Given the description of an element on the screen output the (x, y) to click on. 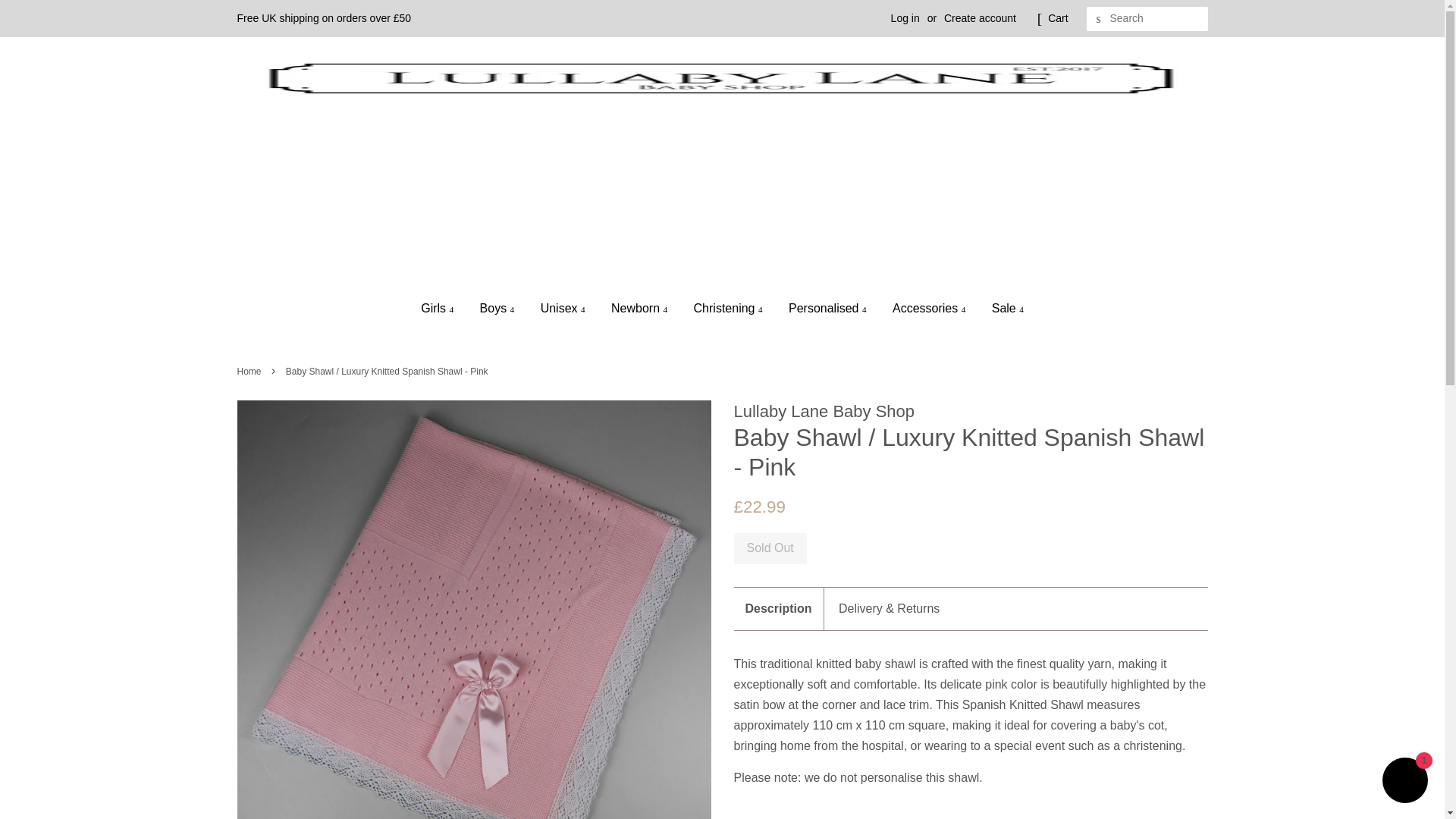
Create account (979, 18)
Back to the frontpage (249, 371)
Search (1097, 18)
Log in (905, 18)
Shopify online store chat (1404, 781)
Cart (1057, 18)
